Given the description of an element on the screen output the (x, y) to click on. 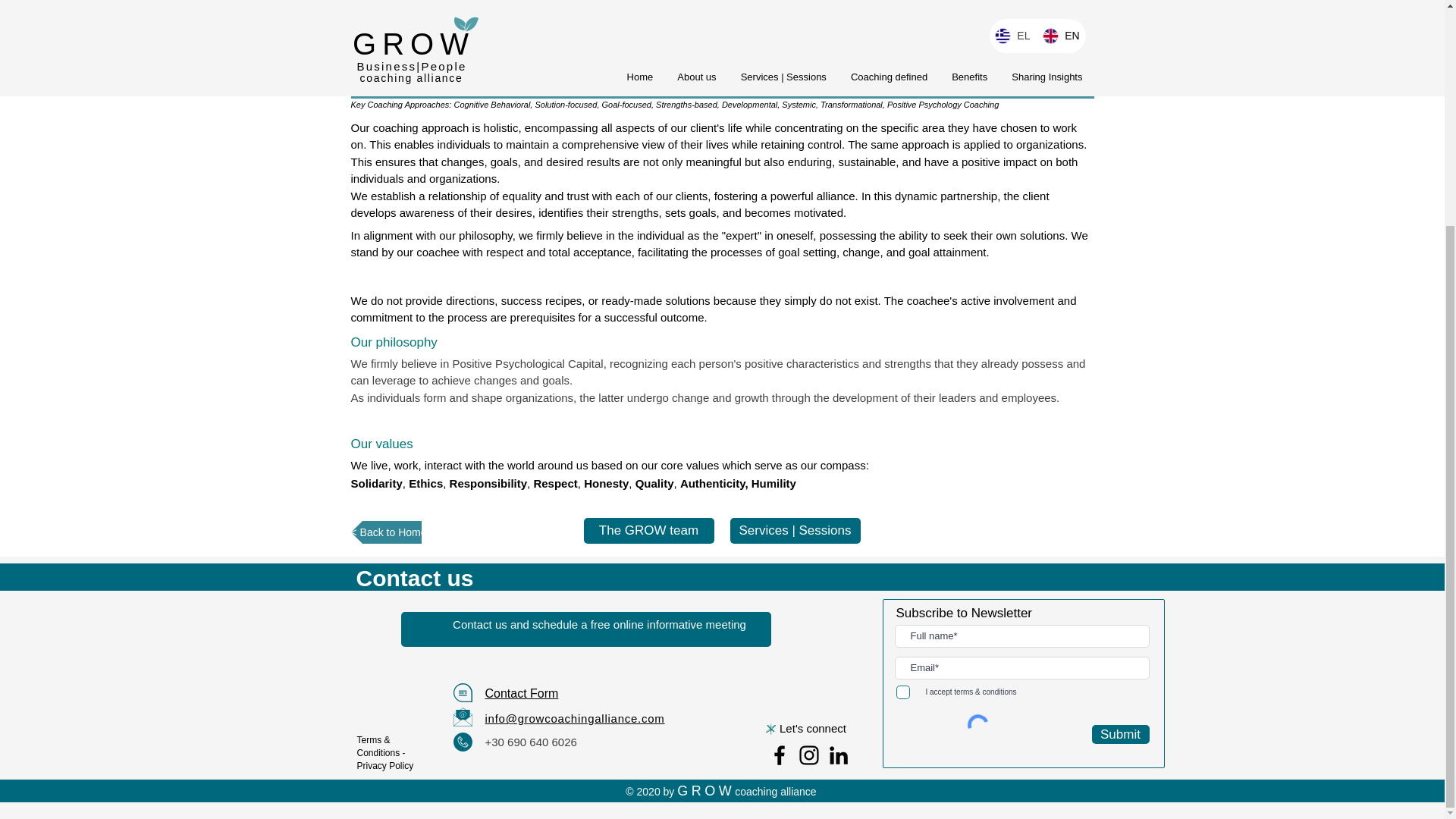
Submit (1121, 733)
The GROW team (648, 530)
Contact Form (521, 693)
